Given the description of an element on the screen output the (x, y) to click on. 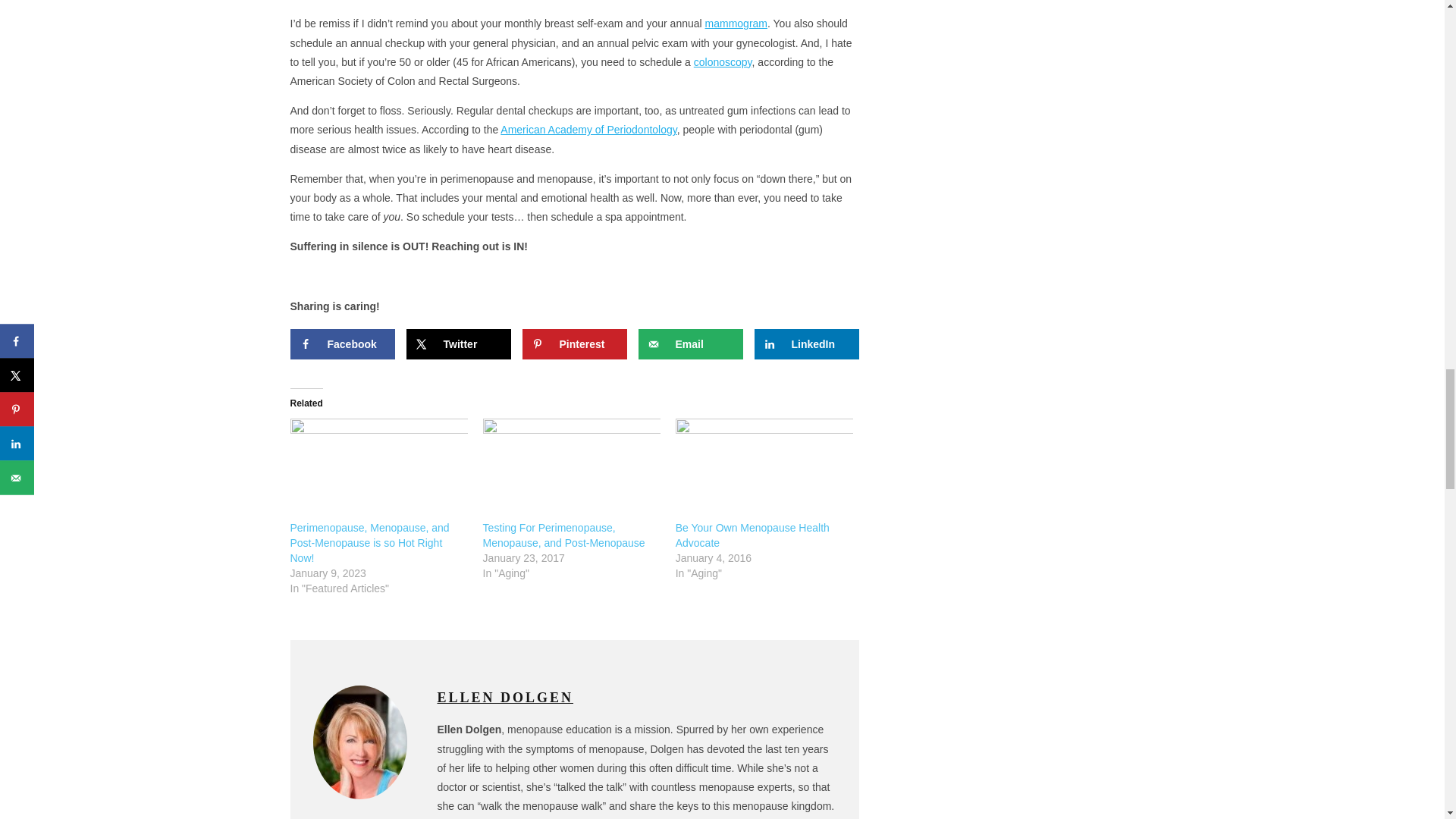
Send over email (690, 344)
Share on LinkedIn (806, 344)
Share on Facebook (341, 344)
Be Your Own Menopause Health Advocate (752, 534)
Be Your Own Menopause Health Advocate (764, 469)
Save to Pinterest (573, 344)
Testing For Perimenopause, Menopause, and Post-Menopause (572, 469)
Share on X (458, 344)
Testing For Perimenopause, Menopause, and Post-Menopause (564, 534)
